Given the description of an element on the screen output the (x, y) to click on. 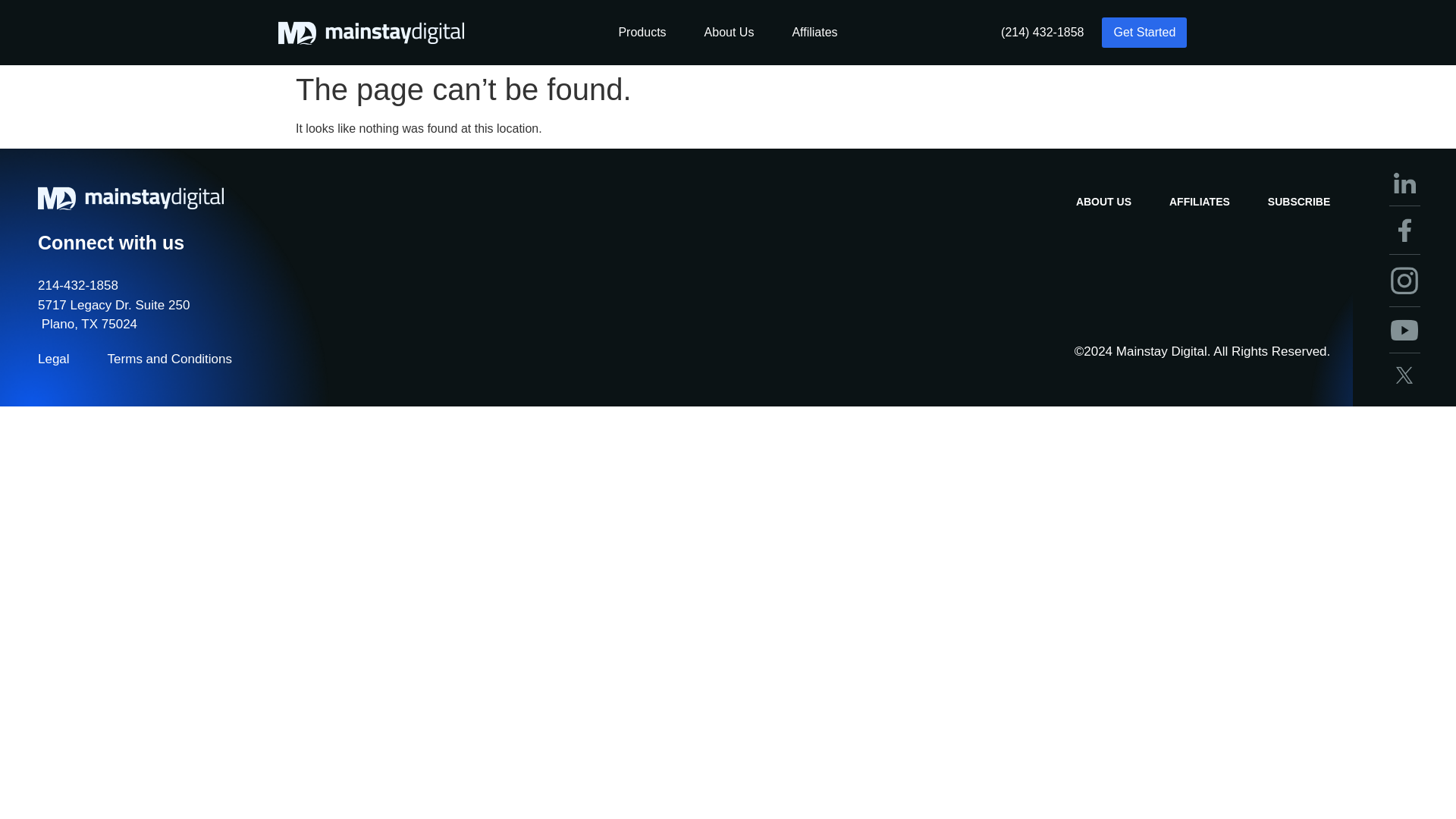
SUBSCRIBE (1299, 201)
Terms and Conditions (169, 359)
Get Started (1144, 32)
ABOUT US (1103, 201)
Affiliates (813, 32)
About Us (729, 32)
Legal (53, 359)
Products (641, 32)
AFFILIATES (1199, 201)
